Given the description of an element on the screen output the (x, y) to click on. 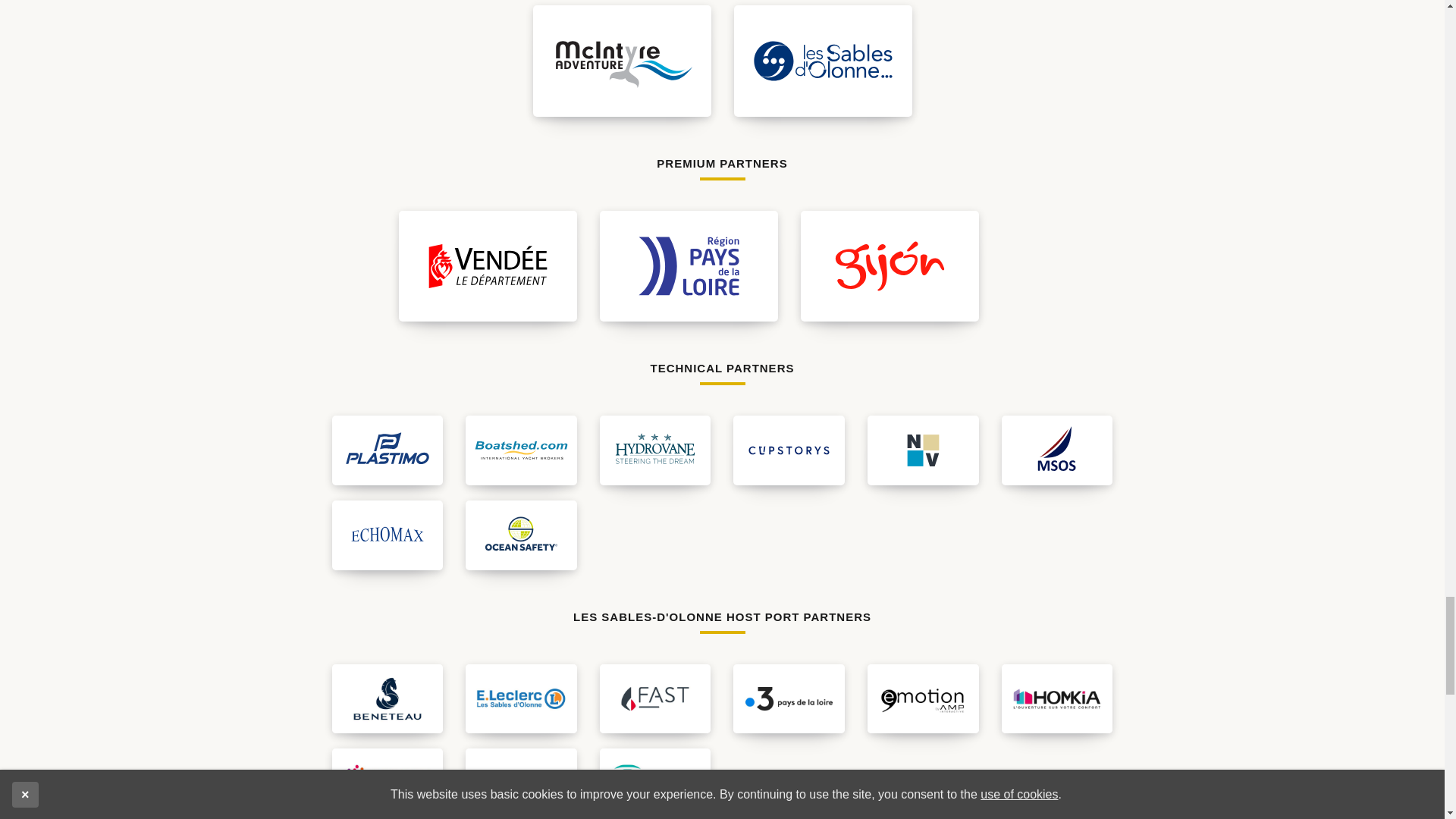
McIntyre Adventure Website (621, 60)
